Given the description of an element on the screen output the (x, y) to click on. 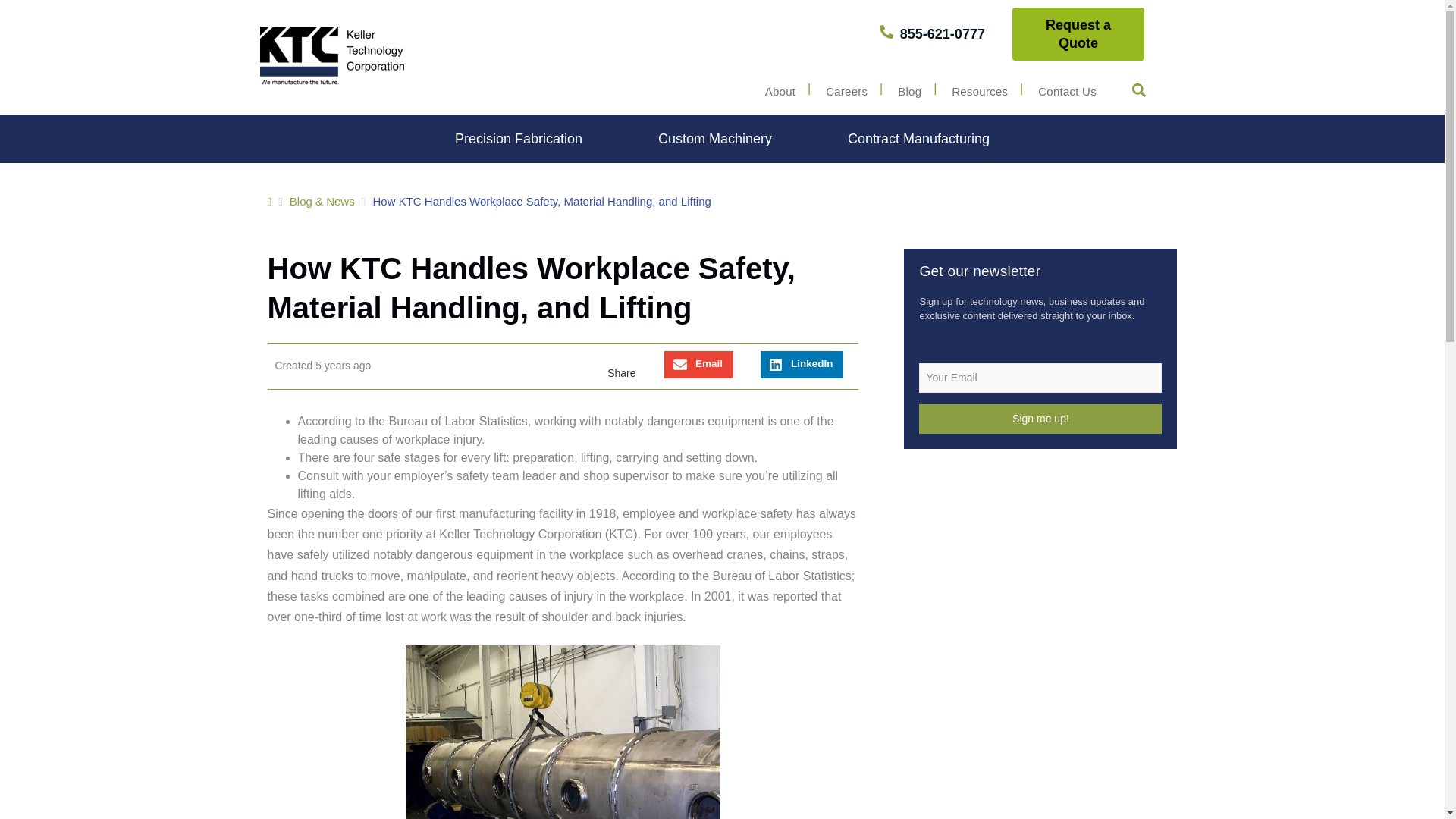
Careers (846, 91)
855-621-0777 (932, 34)
Contact Us (1067, 91)
Sign me up! (1039, 419)
Blog (909, 91)
Resources (979, 91)
About (779, 91)
Request a Quote (1077, 33)
